Given the description of an element on the screen output the (x, y) to click on. 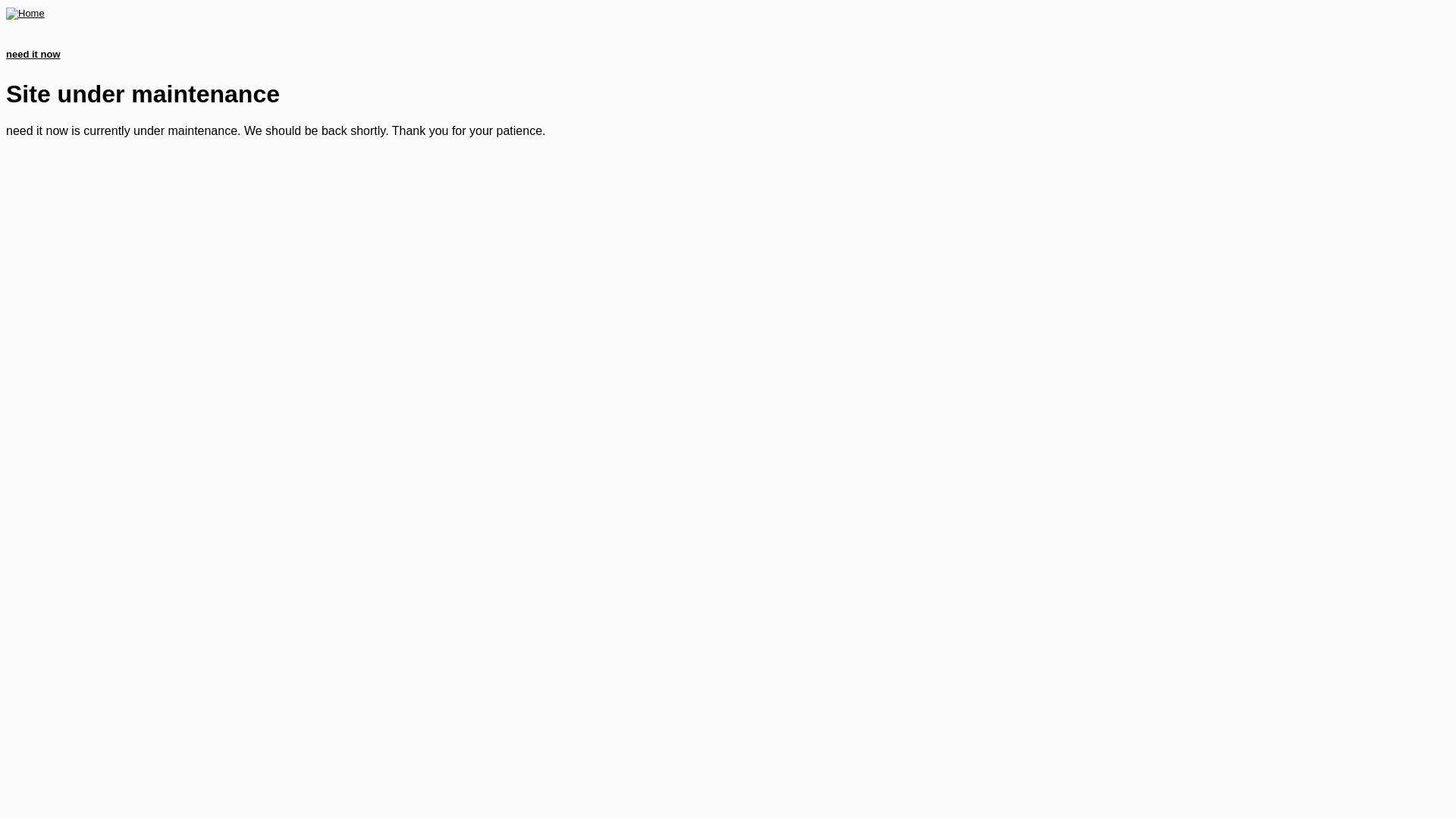
need it now Element type: text (33, 53)
Home Element type: hover (25, 12)
